Given the description of an element on the screen output the (x, y) to click on. 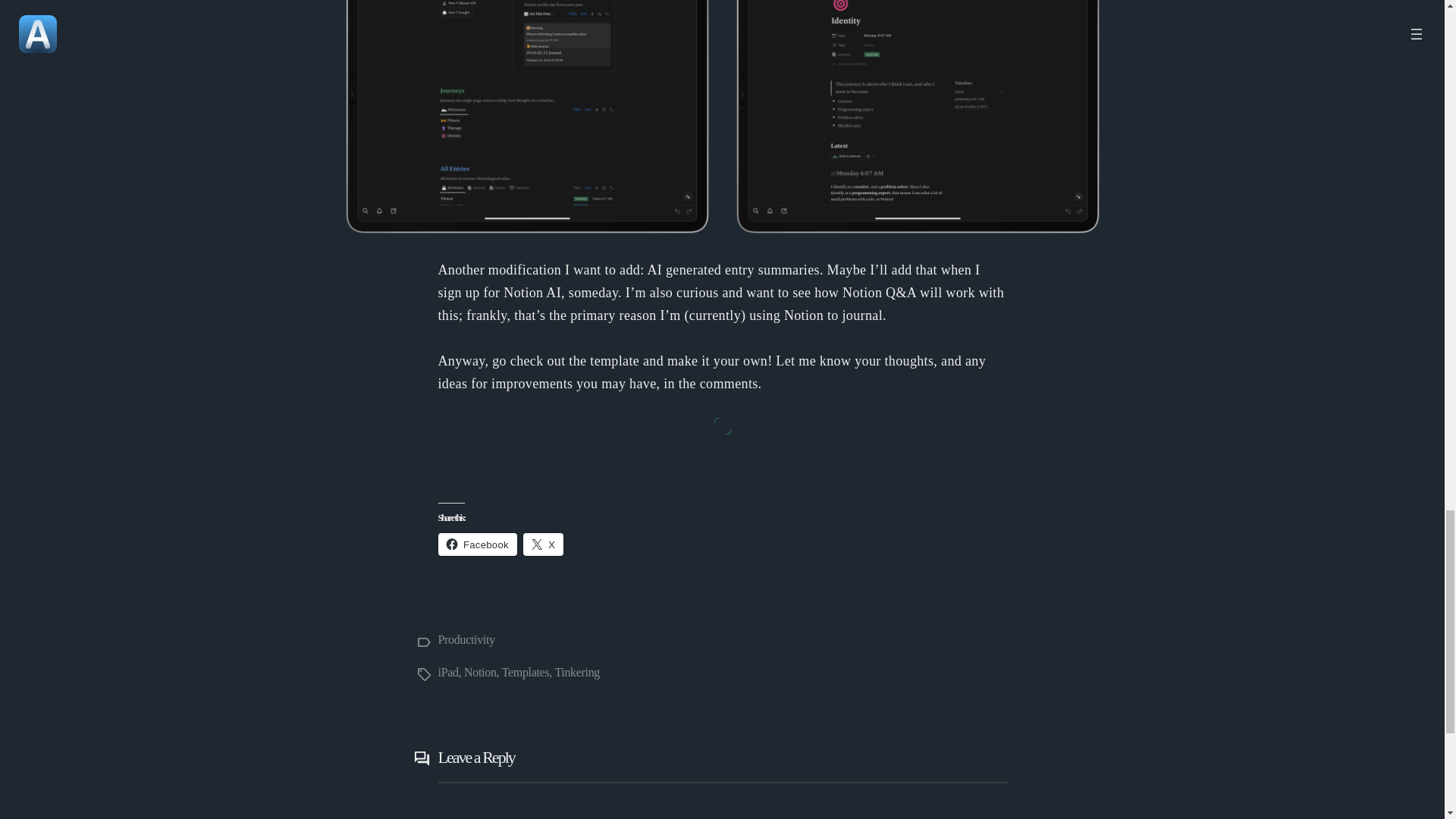
Facebook (477, 544)
Productivity (466, 639)
iPad (448, 671)
Click to share on X (542, 544)
Templates (526, 671)
X (542, 544)
Click to share on Facebook (477, 544)
Notion (480, 671)
Tinkering (576, 671)
